Given the description of an element on the screen output the (x, y) to click on. 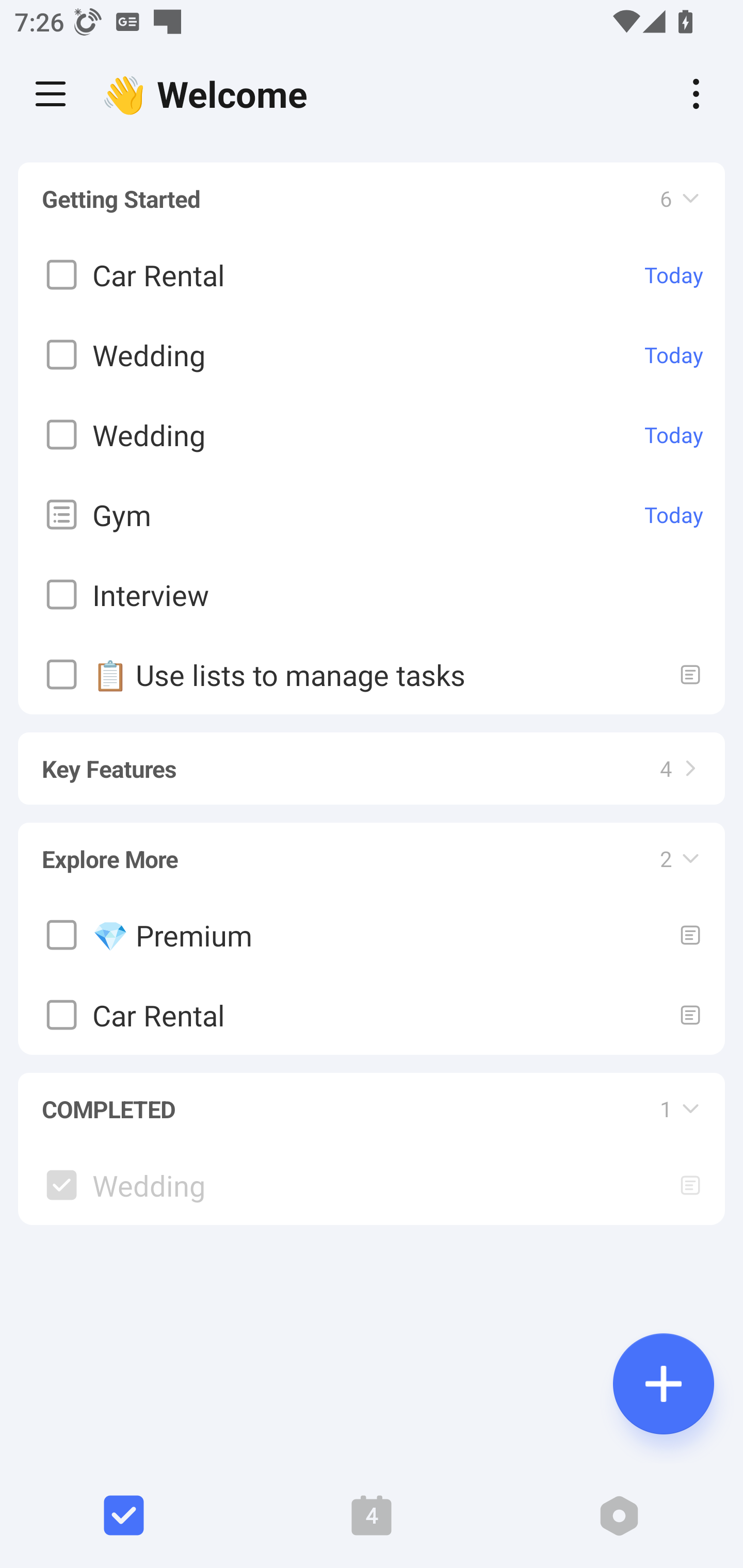
👋 Welcome (209, 93)
Getting Started 6 (371, 199)
Car Rental Today (371, 275)
Today (673, 275)
Wedding Today (371, 355)
Today (673, 355)
Wedding Today (371, 435)
Today (673, 435)
Gym Today (371, 515)
Today (673, 514)
Interview (371, 595)
📋 Use lists to manage tasks (371, 675)
Key Features 4 (371, 759)
Explore More 2 (371, 849)
💎 Premium (371, 935)
Car Rental (371, 1015)
COMPLETED 1 (371, 1099)
Wedding (371, 1184)
